Given the description of an element on the screen output the (x, y) to click on. 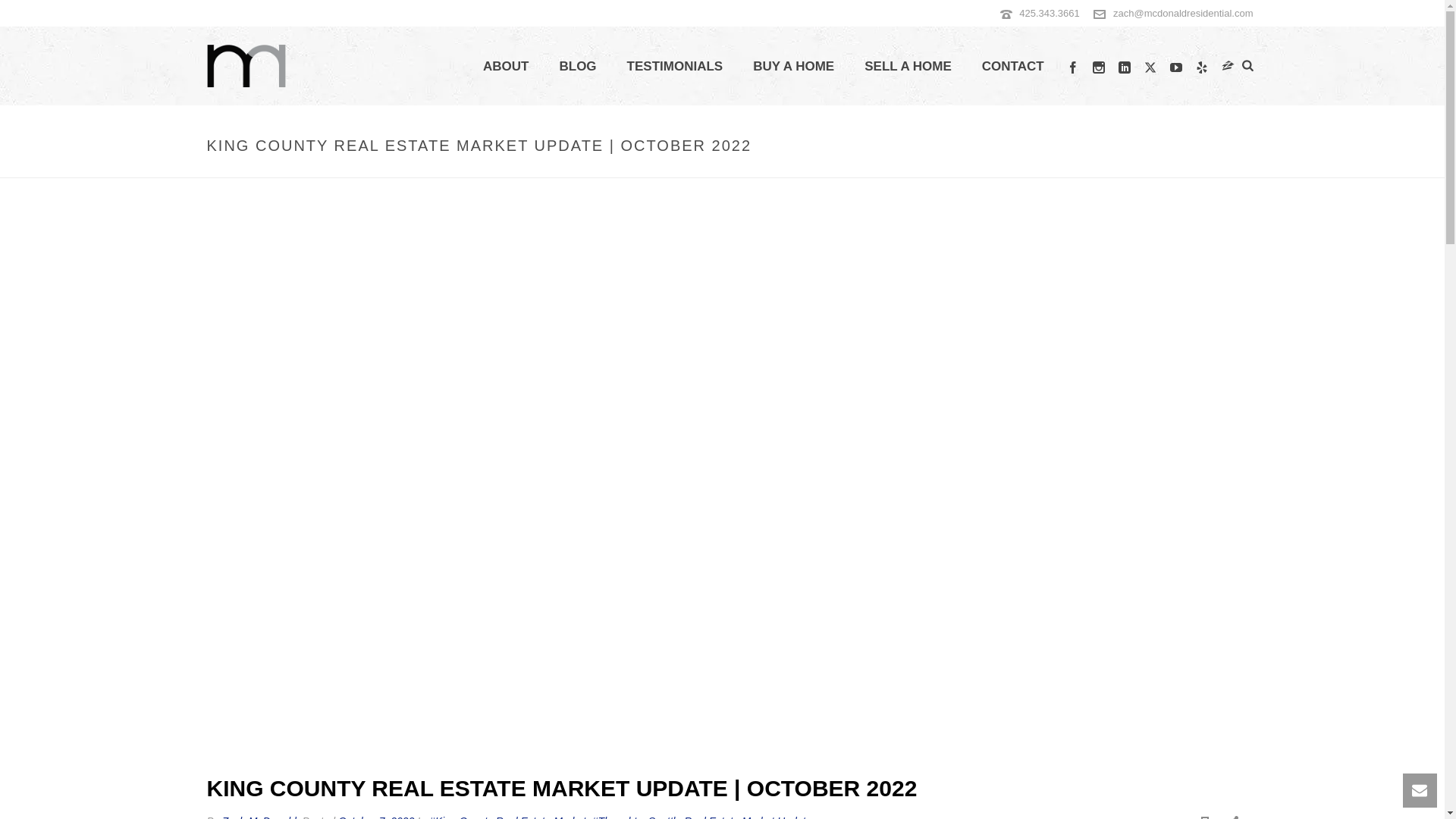
Print (1203, 816)
ABOUT (505, 66)
SELL A HOME (907, 66)
BLOG (577, 66)
Posts by Zach McDonald (259, 816)
Helping People Like You Buy and Sell Real Estate (245, 65)
BUY A HOME (793, 66)
BUY A HOME (793, 66)
TESTIMONIALS (674, 66)
425.343.3661 (1049, 12)
